Given the description of an element on the screen output the (x, y) to click on. 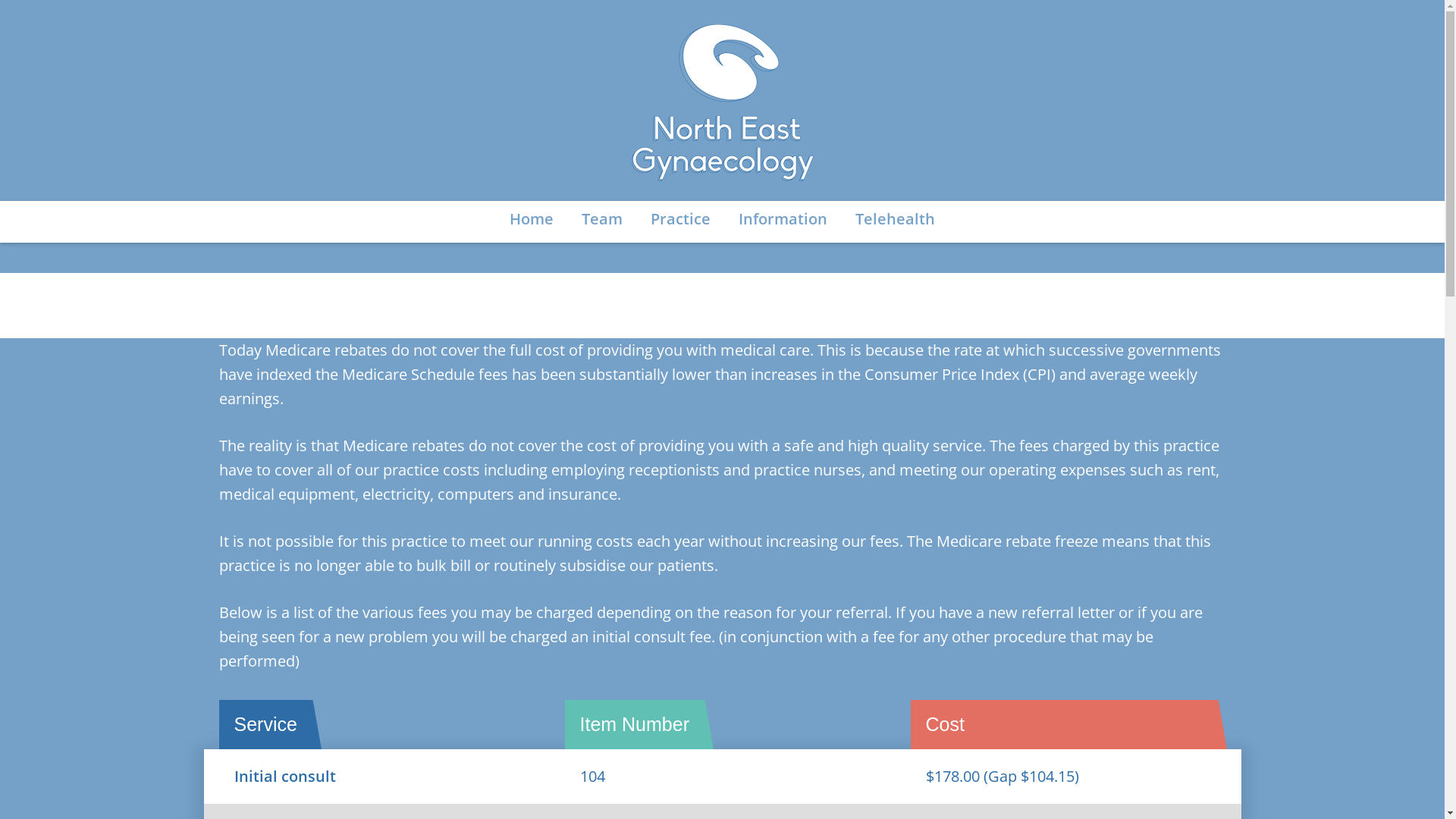
Information Element type: text (782, 219)
Practice Element type: text (680, 219)
Telehealth Element type: text (895, 219)
Home Element type: text (531, 219)
Team Element type: text (601, 219)
